Given the description of an element on the screen output the (x, y) to click on. 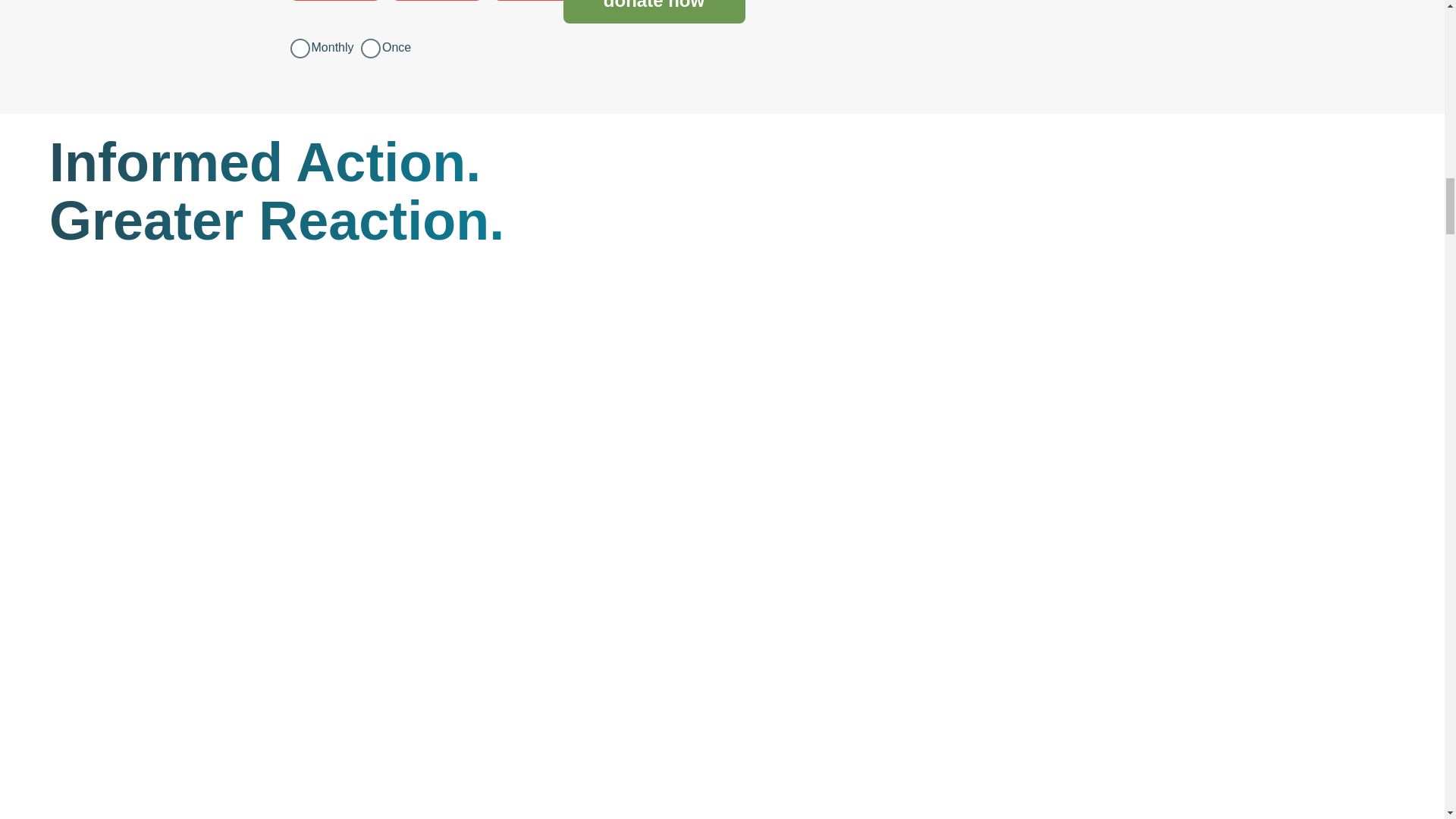
DONATE NOW (653, 11)
